Given the description of an element on the screen output the (x, y) to click on. 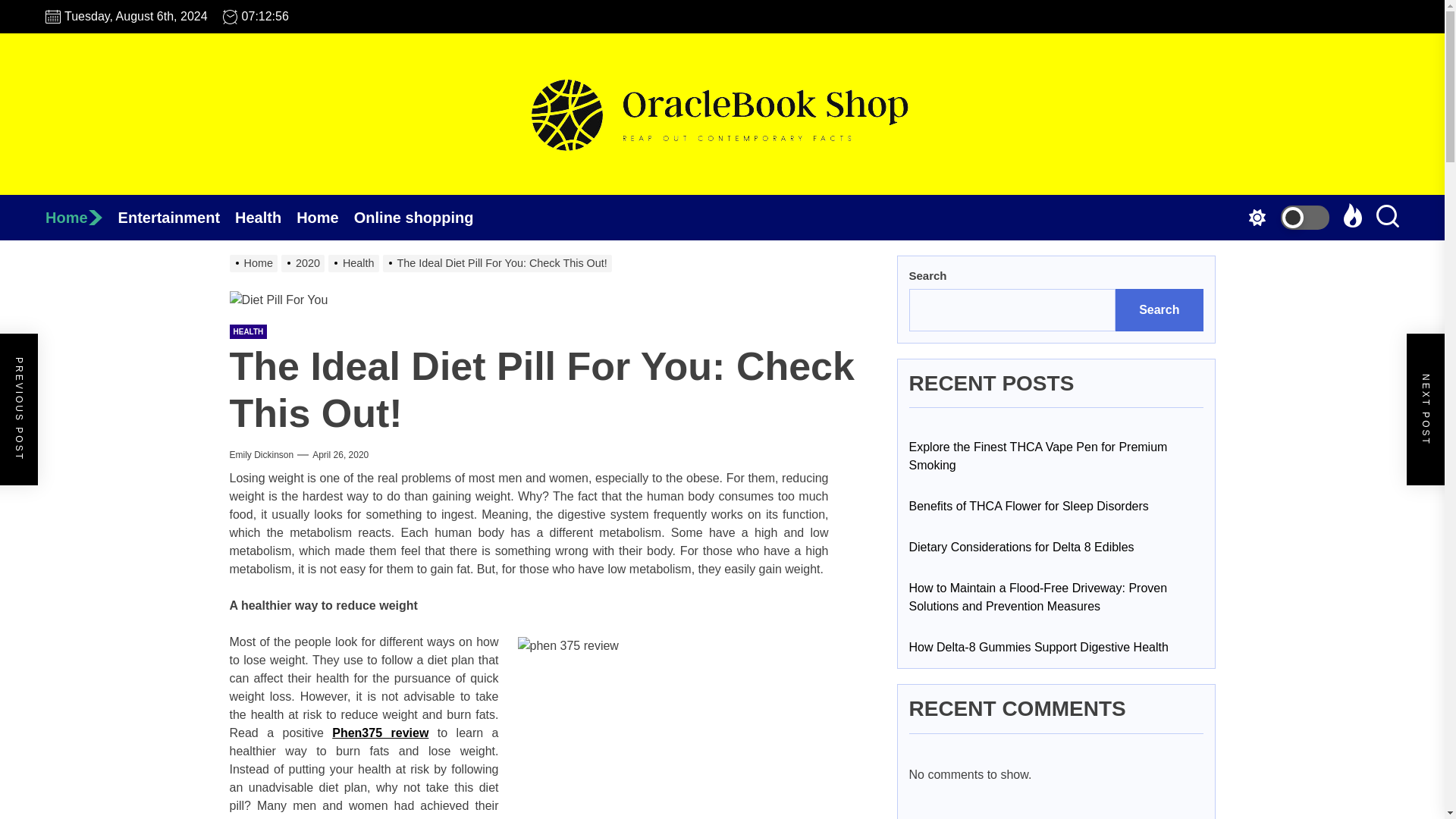
Home (325, 217)
Health (265, 217)
Home (81, 217)
Health (355, 263)
Home (81, 217)
Entertainment (175, 217)
The Ideal Diet Pill For You: Check This Out! (498, 263)
Oracle Book Shop (721, 220)
Home (254, 263)
Online shopping (421, 217)
2020 (305, 263)
